Given the description of an element on the screen output the (x, y) to click on. 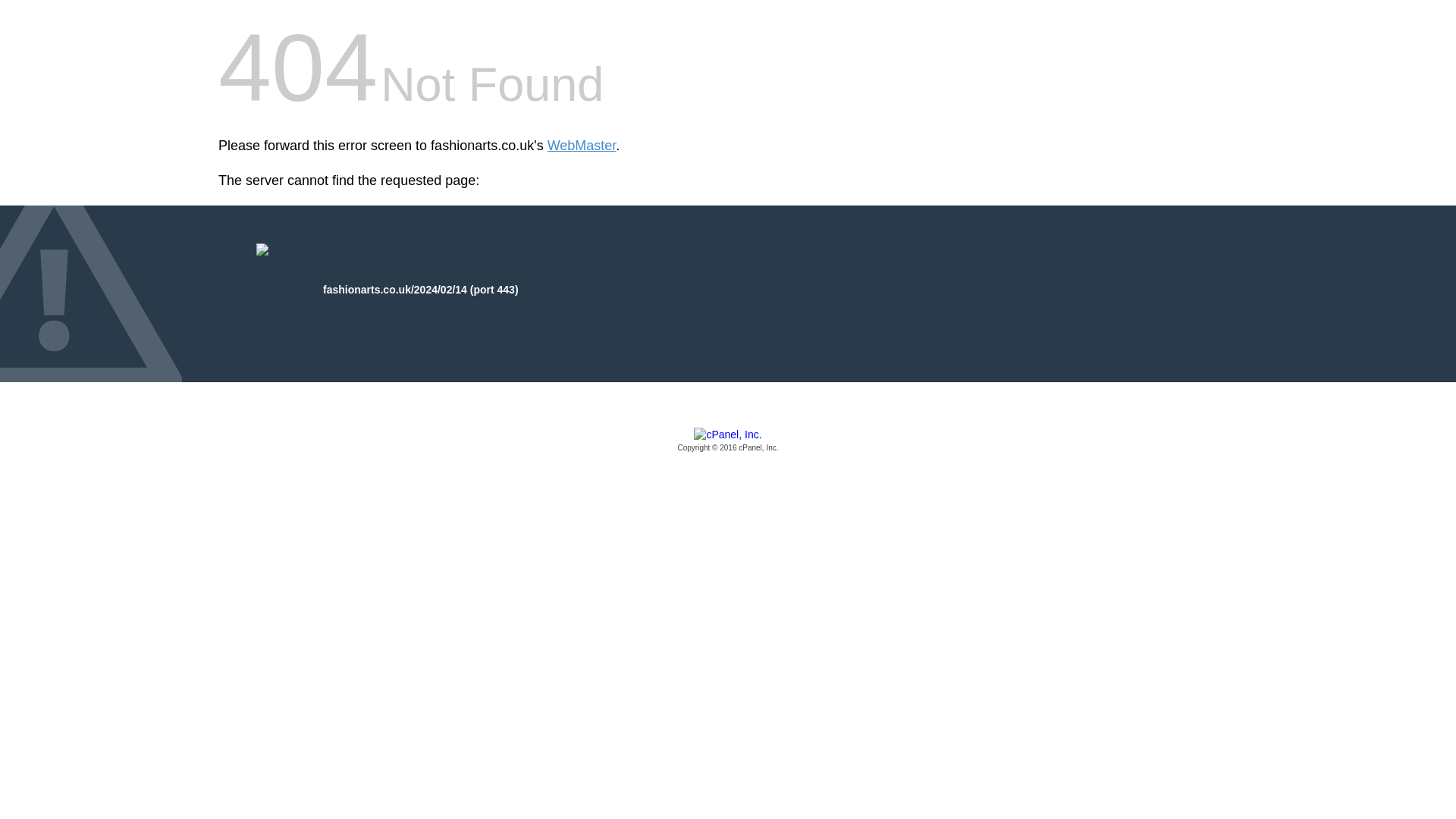
cPanel, Inc. (727, 440)
WebMaster (581, 145)
